Given the description of an element on the screen output the (x, y) to click on. 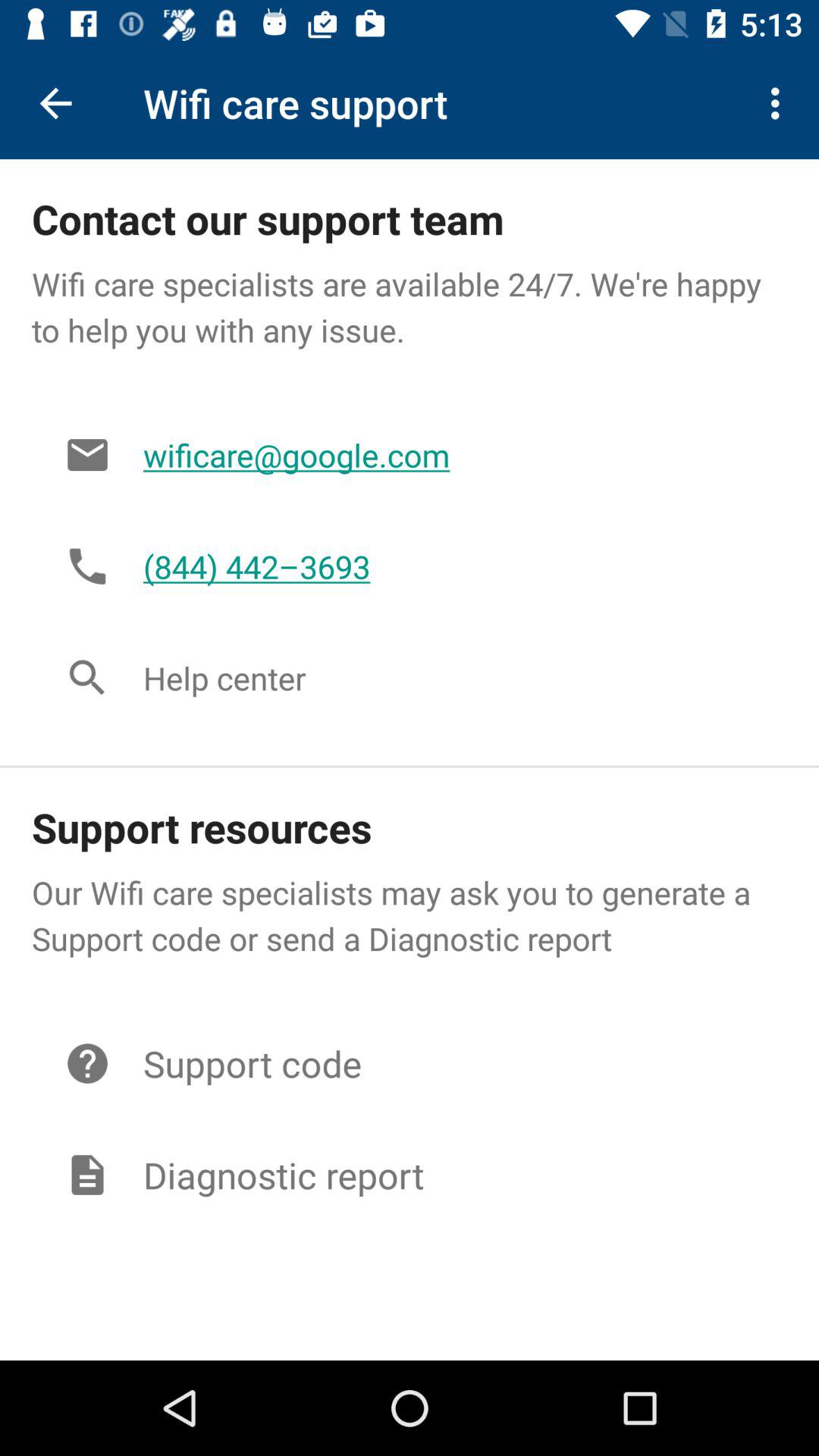
choose help center item (449, 677)
